Given the description of an element on the screen output the (x, y) to click on. 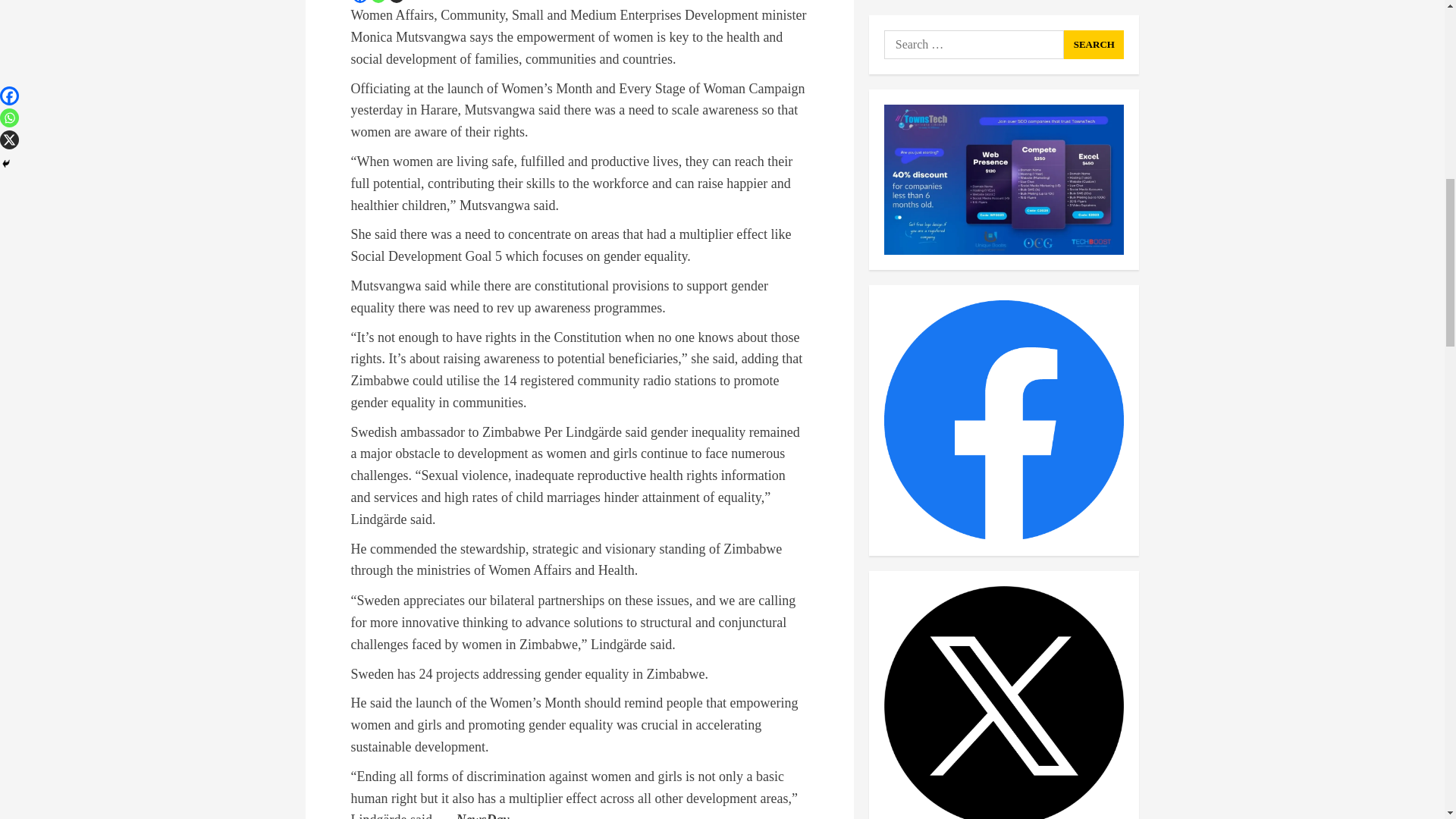
X (395, 1)
Whatsapp (377, 1)
Facebook (359, 1)
